Given the description of an element on the screen output the (x, y) to click on. 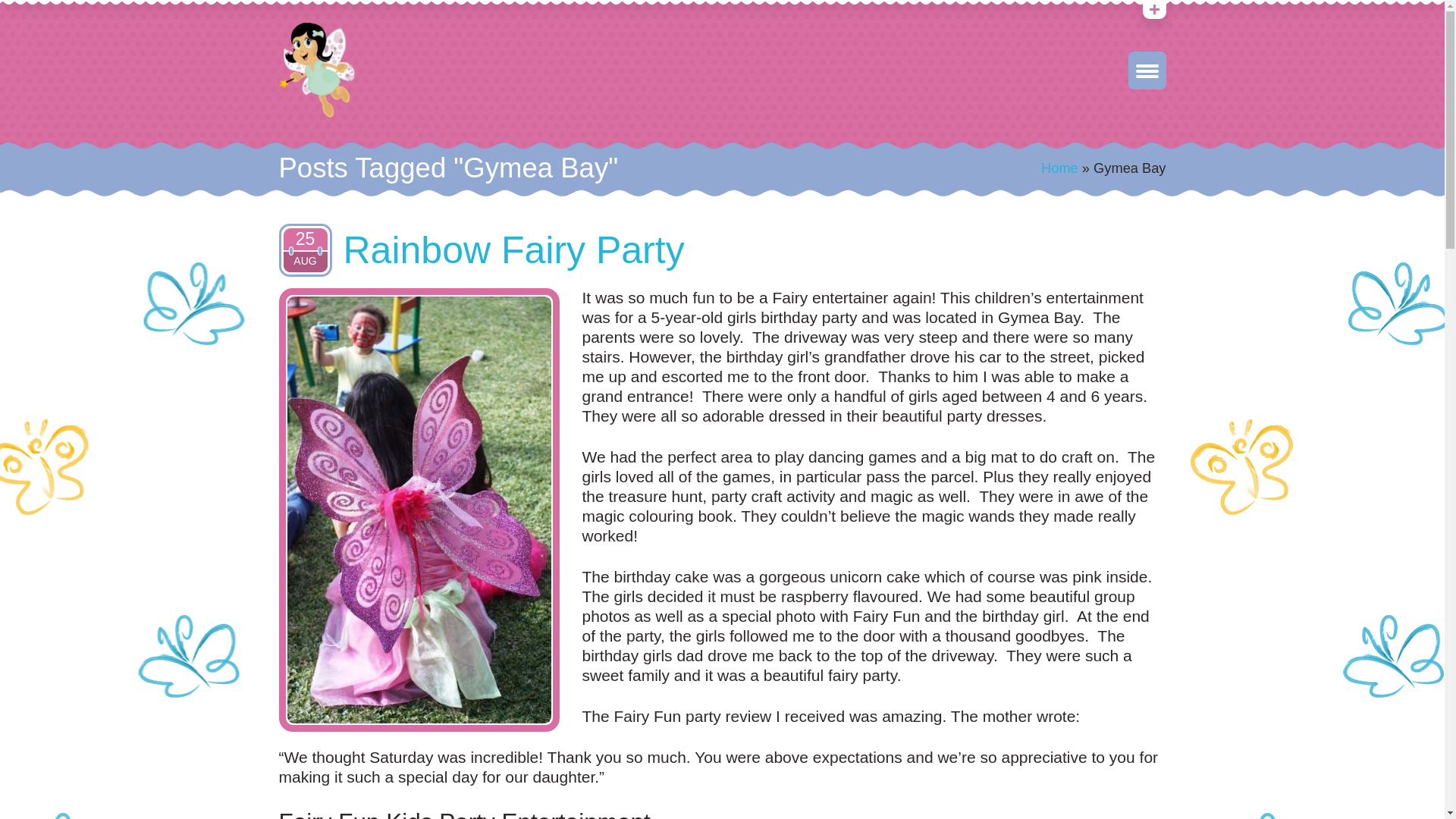
Search Element type: text (25, 14)
Twitter | Fairy Fun Parties Element type: hover (1145, 12)
Home Element type: text (1059, 167)
Rainbow Fairy Party Element type: text (513, 250)
